Given the description of an element on the screen output the (x, y) to click on. 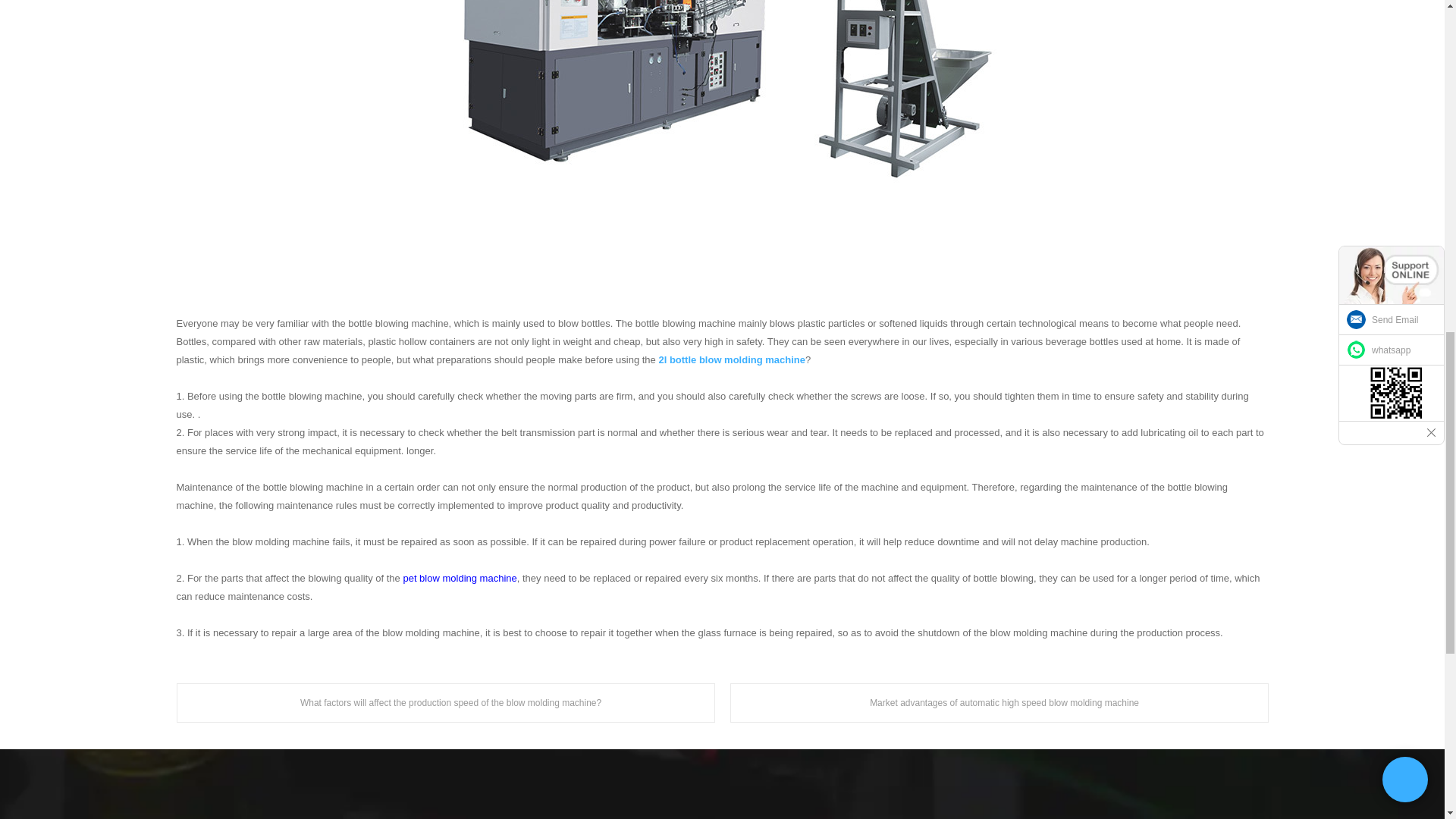
2l bottle blow molding machine (731, 359)
pet blow molding machine (459, 577)
